Given the description of an element on the screen output the (x, y) to click on. 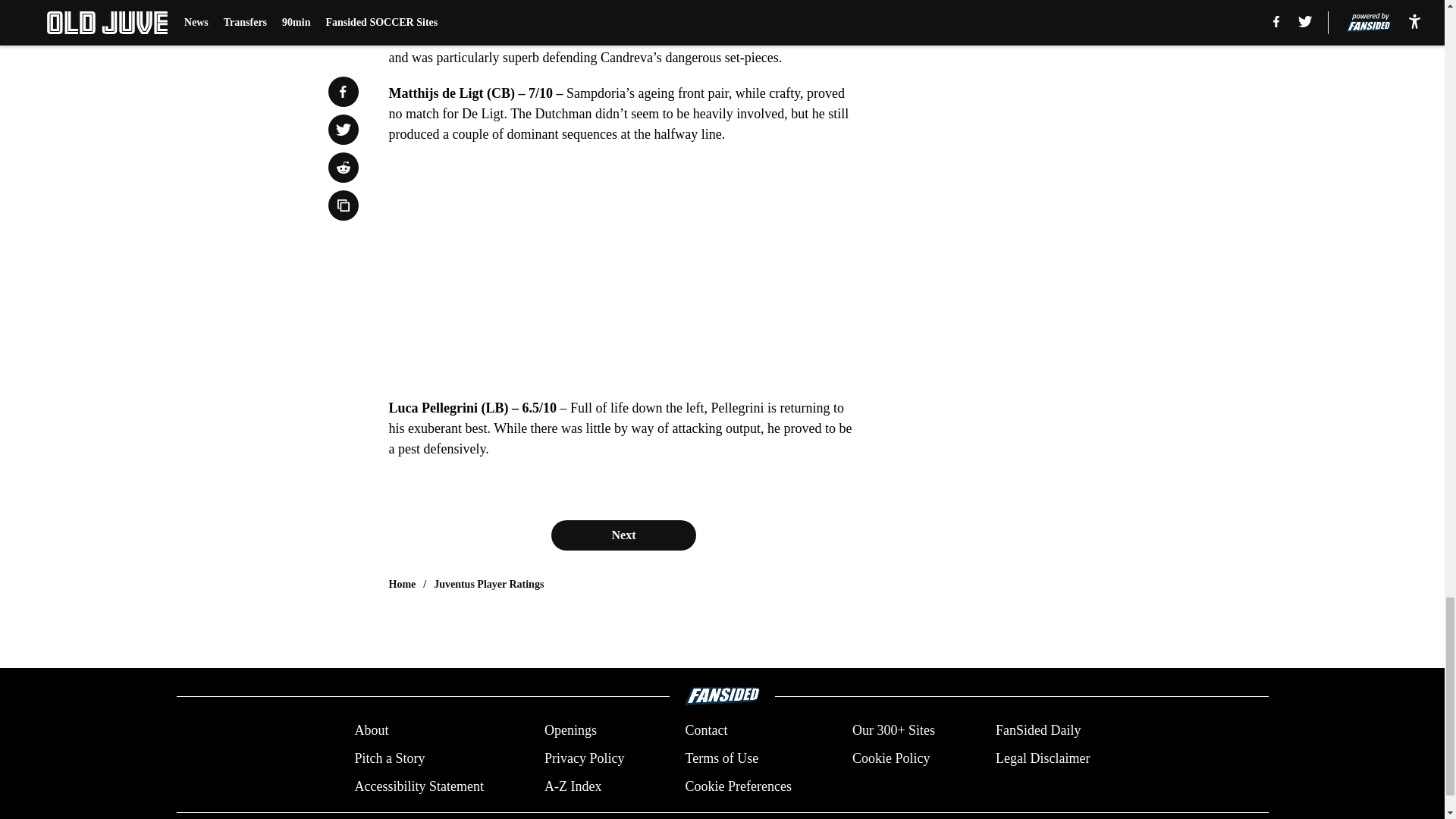
Cookie Preferences (737, 786)
FanSided Daily (1038, 730)
Openings (570, 730)
Cookie Policy (890, 758)
Legal Disclaimer (1042, 758)
Accessibility Statement (418, 786)
Privacy Policy (584, 758)
A-Z Index (572, 786)
Next (622, 535)
Contact (705, 730)
